Given the description of an element on the screen output the (x, y) to click on. 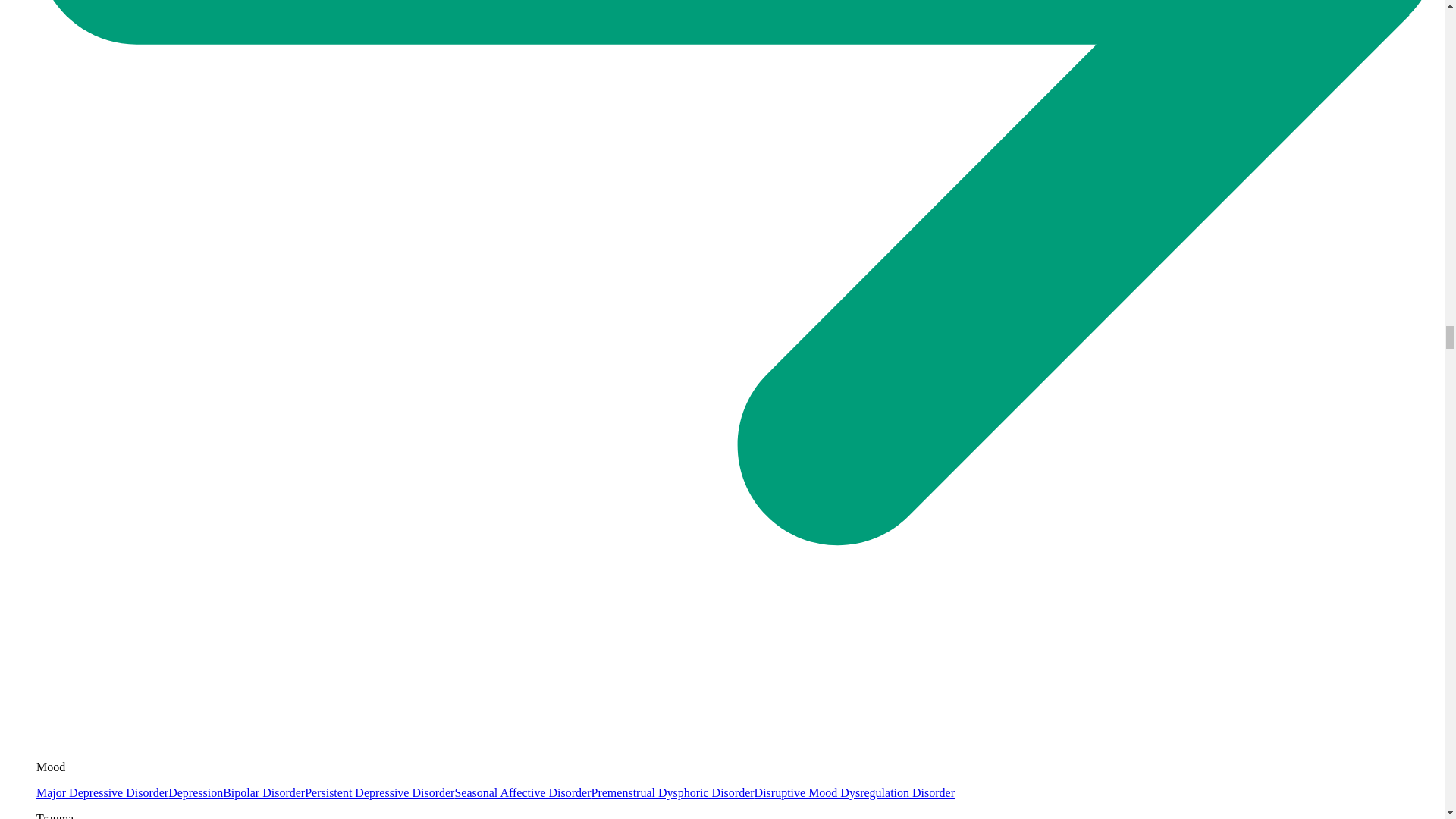
Bipolar Disorder (263, 792)
Persistent Depressive Disorder (379, 792)
Seasonal Affective Disorder (522, 792)
Disruptive Mood Dysregulation Disorder (854, 792)
Premenstrual Dysphoric Disorder (672, 792)
Major Depressive Disorder (102, 792)
Depression (195, 792)
